Given the description of an element on the screen output the (x, y) to click on. 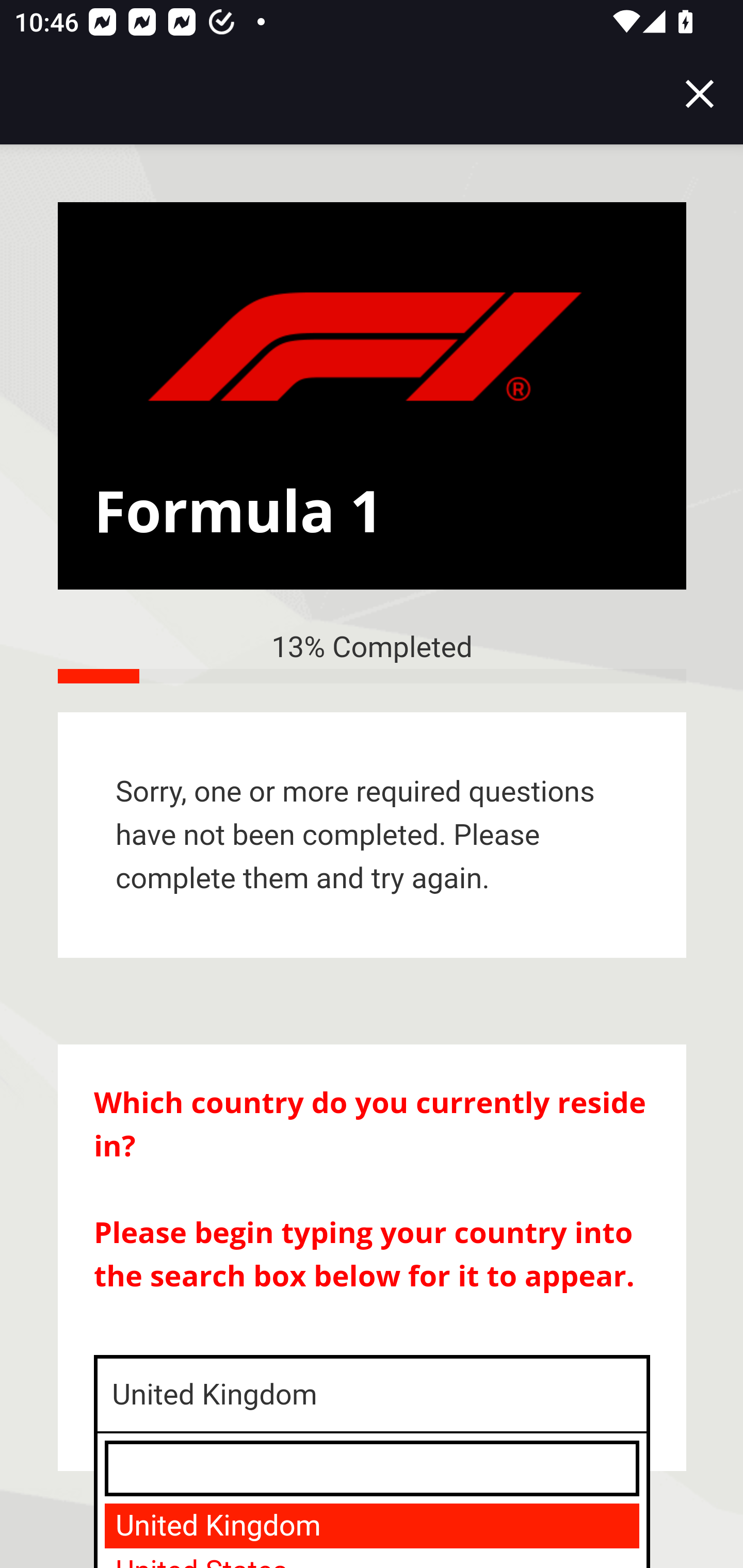
Close (699, 93)
United Kingdom United Kingdom United States (372, 1394)
United Kingdom United States (368, 1535)
